Given the description of an element on the screen output the (x, y) to click on. 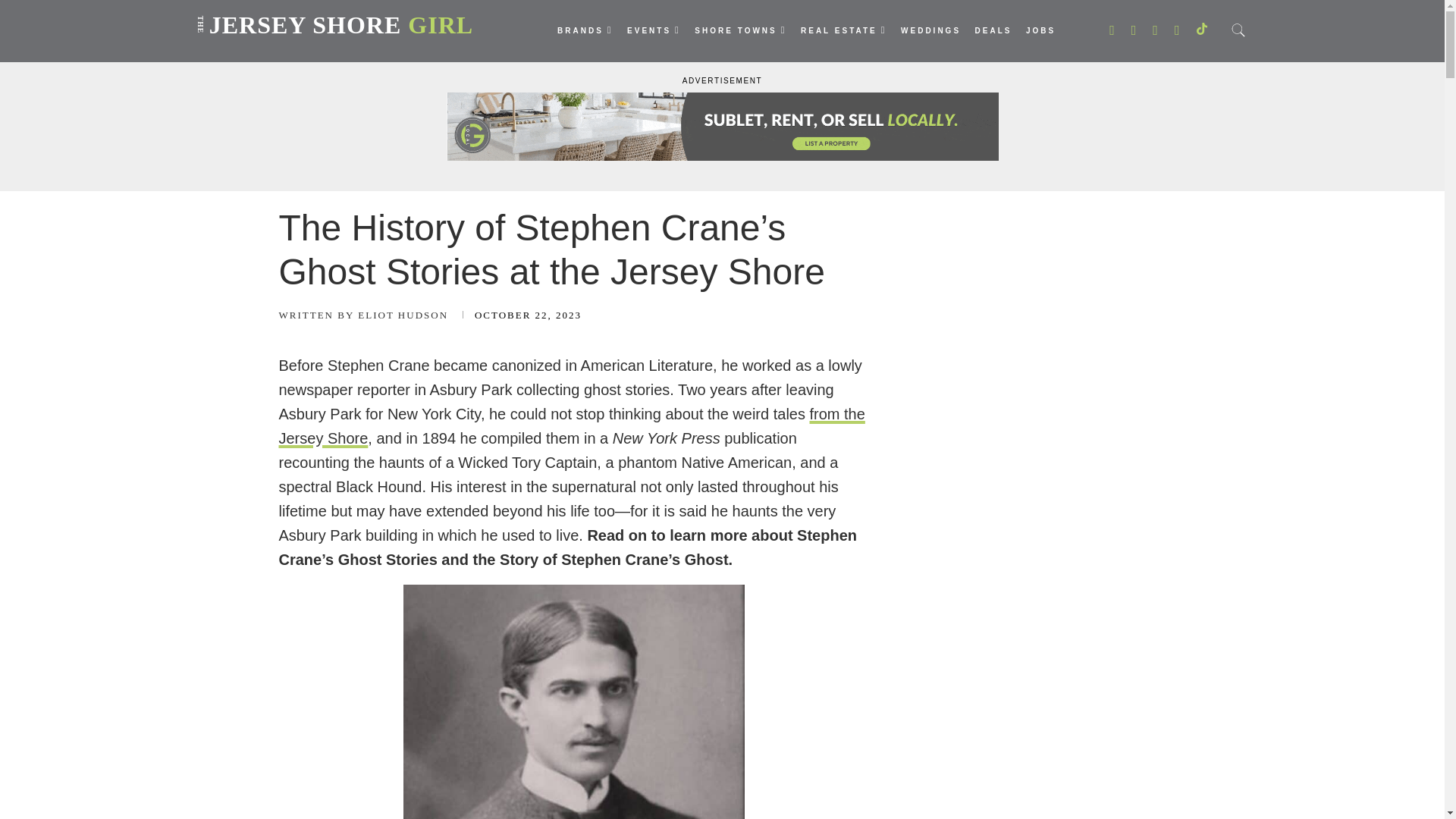
BRANDS (584, 30)
SHORE TOWNS (740, 30)
REAL ESTATE (843, 30)
WEDDINGS (930, 30)
THEJERSEY SHORE GIRL (331, 13)
ELIOT HUDSON (363, 315)
